Given the description of an element on the screen output the (x, y) to click on. 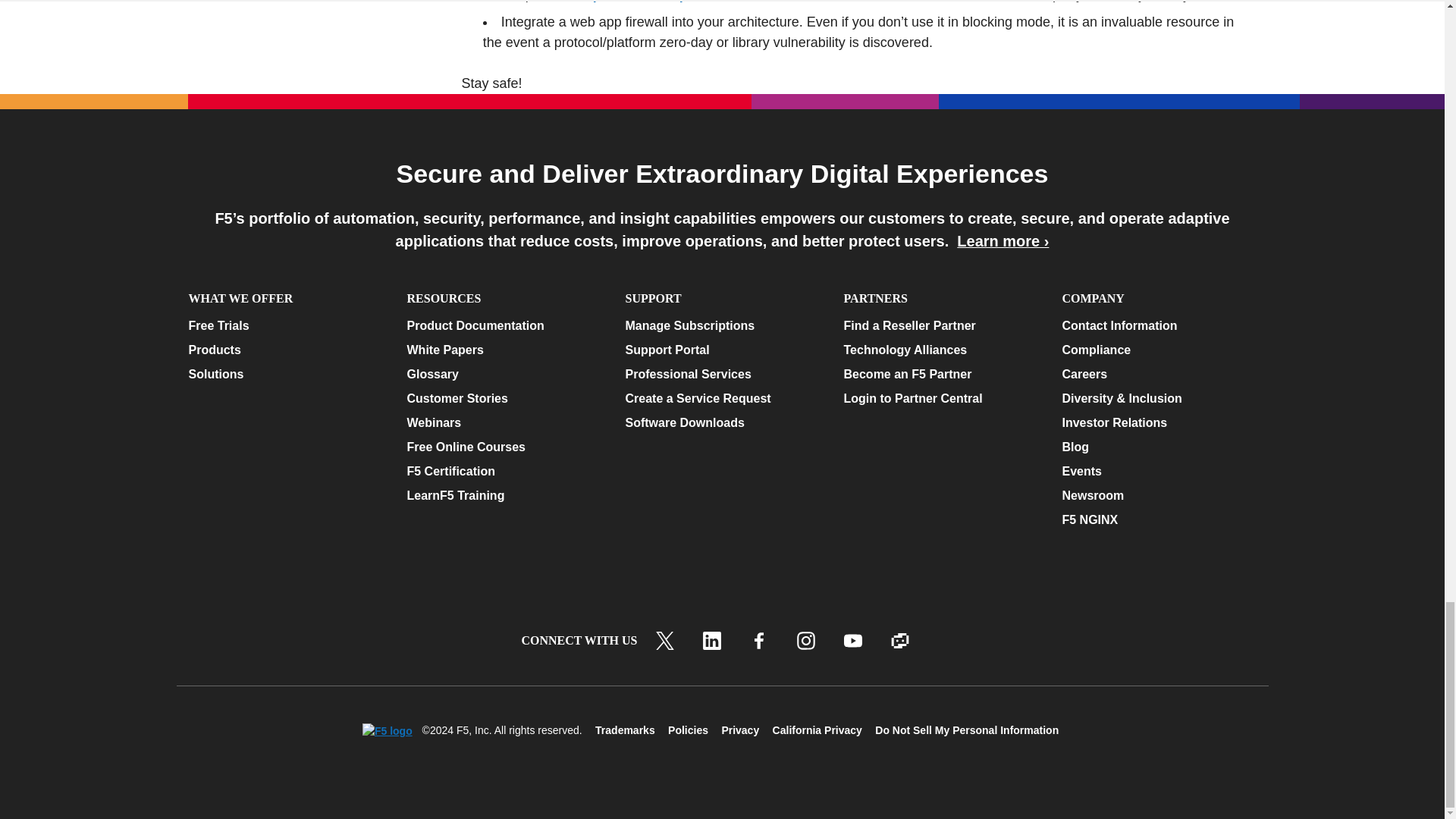
Product Documentation (502, 325)
Free Trials (284, 325)
Products (284, 350)
Glossary (502, 374)
Webinars (502, 423)
Customer Stories (502, 398)
Solutions (284, 374)
White Papers (502, 350)
